Given the description of an element on the screen output the (x, y) to click on. 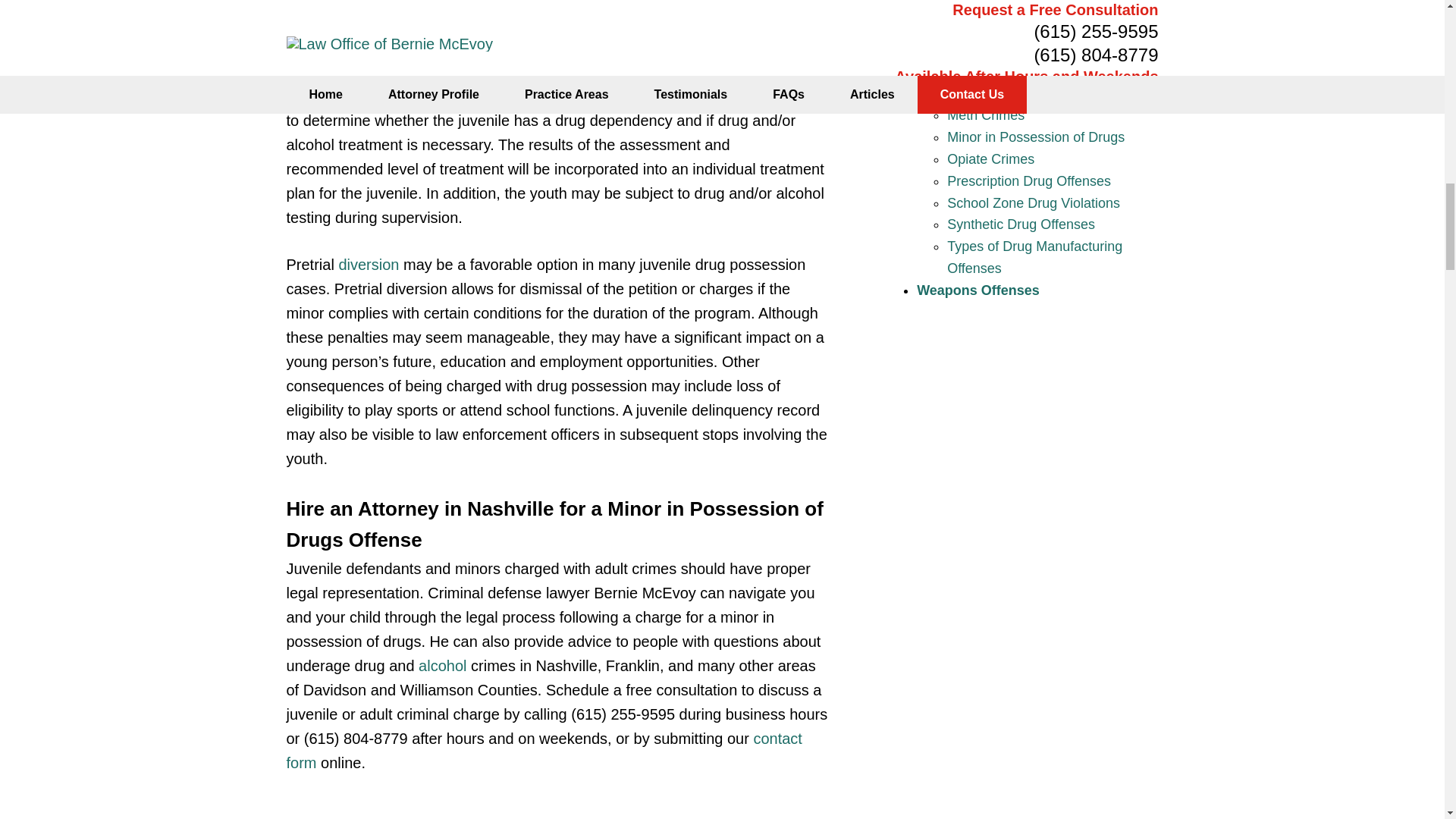
alcohol (442, 665)
diversion (367, 264)
contact form (544, 750)
